Given the description of an element on the screen output the (x, y) to click on. 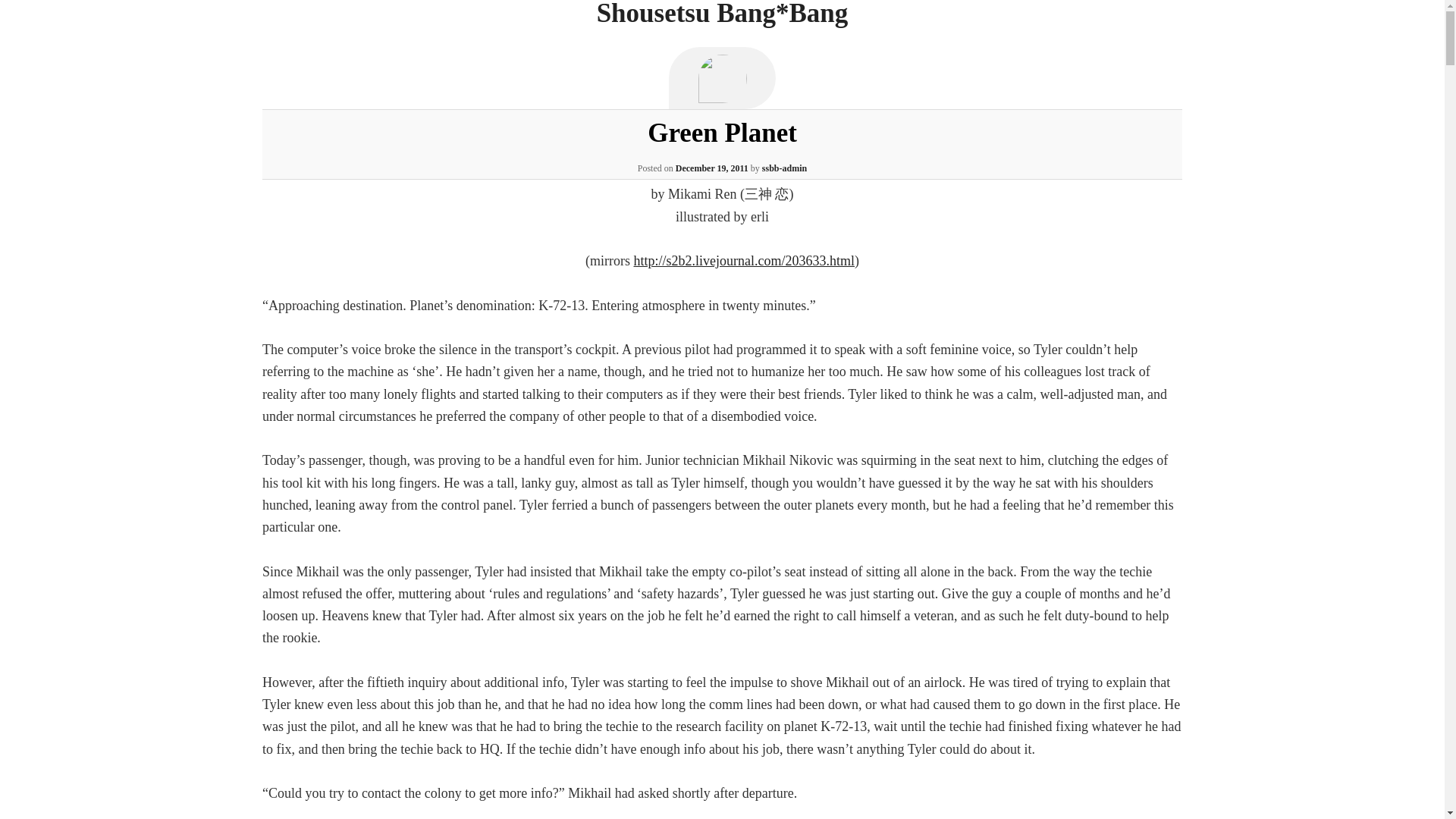
s2b2.livejournal.com (743, 260)
ssbb-admin (783, 167)
December 19, 2011 (711, 167)
View all posts by ssbb-admin (783, 167)
12:46 (711, 167)
